Given the description of an element on the screen output the (x, y) to click on. 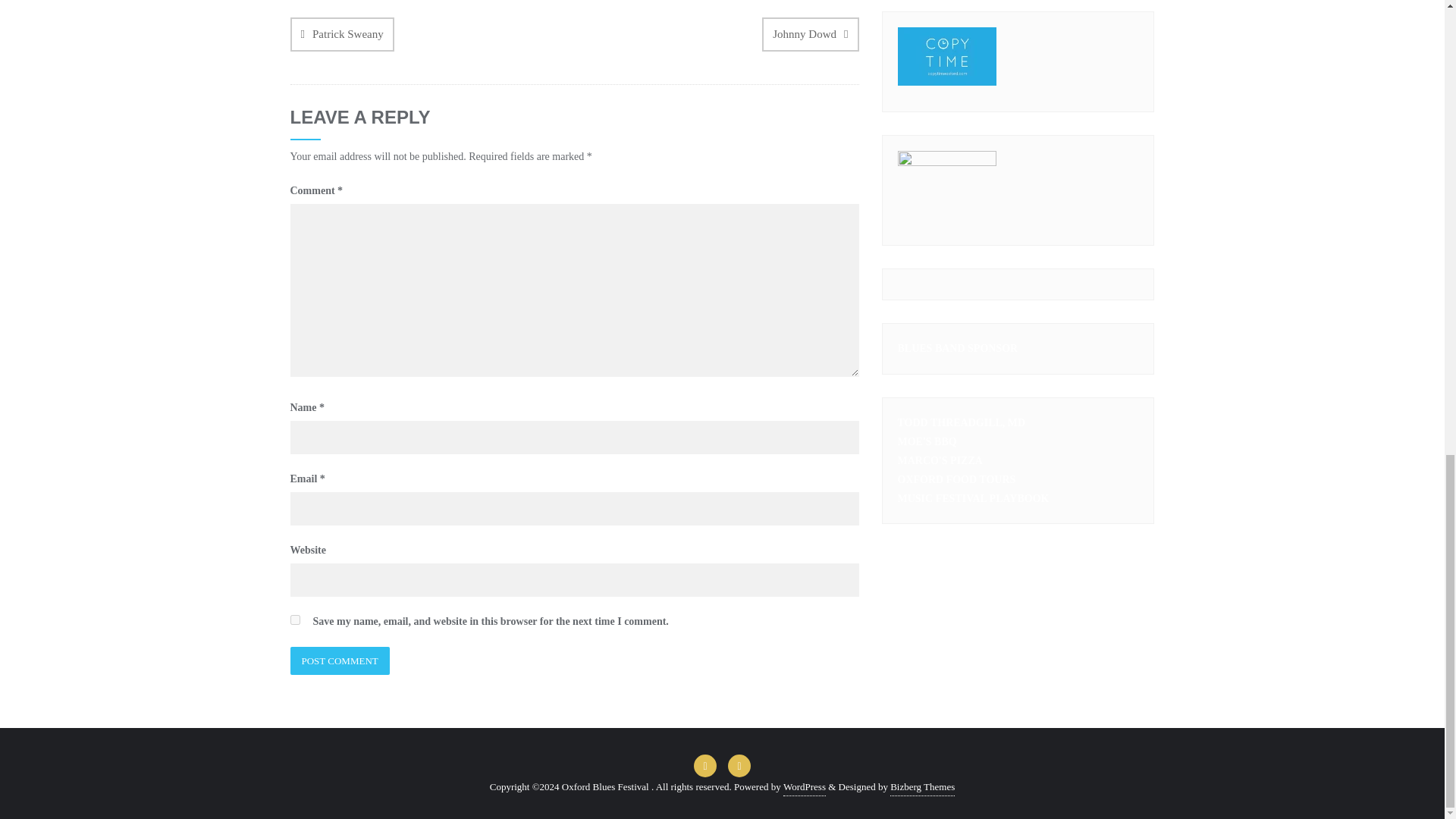
Johnny Dowd (810, 34)
Post Comment (338, 660)
WordPress (804, 787)
Post Comment (338, 660)
yes (294, 619)
Bizberg Themes (922, 787)
Patrick Sweany (341, 34)
